Given the description of an element on the screen output the (x, y) to click on. 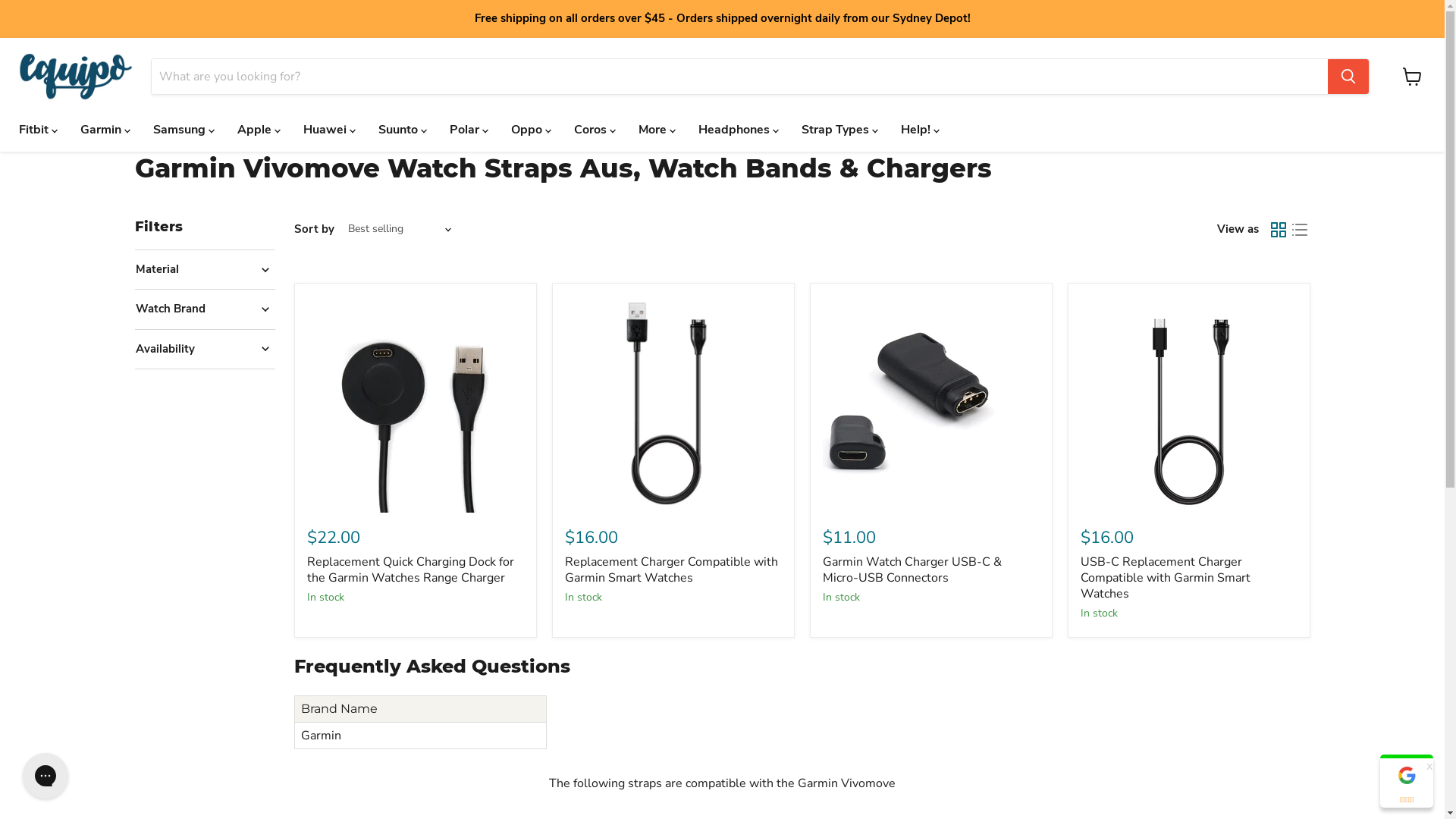
$11.00 Element type: text (930, 530)
Replacement Charger Compatible with Garmin Smart Watches Element type: text (670, 569)
$16.00 Element type: text (1187, 530)
$16.00 Element type: text (672, 530)
Watch Brand Element type: text (204, 308)
View cart Element type: text (1412, 76)
$22.00 Element type: text (414, 530)
Material Element type: text (204, 269)
Availability Element type: text (204, 349)
Gorgias live chat messenger Element type: hover (45, 775)
Garmin Watch Charger USB-C & Micro-USB Connectors Element type: text (911, 569)
